Given the description of an element on the screen output the (x, y) to click on. 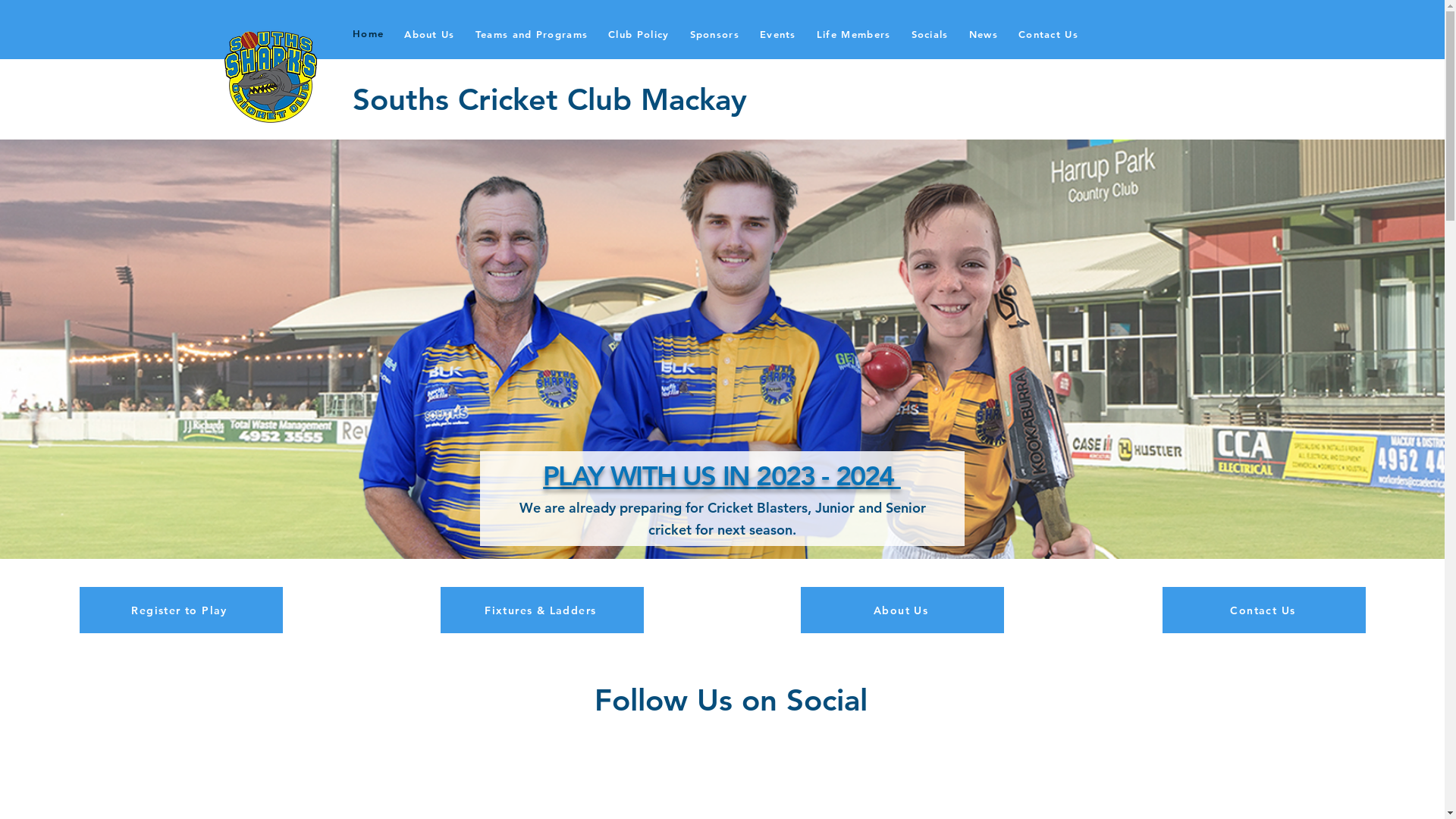
About Us Element type: text (902, 609)
download.jpg Element type: hover (270, 76)
Sponsors Element type: text (713, 33)
Life Members Element type: text (853, 33)
Teams and Programs Element type: text (531, 33)
News Element type: text (982, 33)
About Us Element type: text (429, 33)
Fixtures & Ladders Element type: text (541, 609)
Events Element type: text (777, 33)
Club Policy Element type: text (638, 33)
Contact Us Element type: text (1047, 33)
Contact Us Element type: text (1263, 609)
Register to Play Element type: text (180, 609)
PLAY WITH US IN 2023 - 2024  Element type: text (721, 475)
Home Element type: text (367, 33)
Socials Element type: text (929, 33)
